Given the description of an element on the screen output the (x, y) to click on. 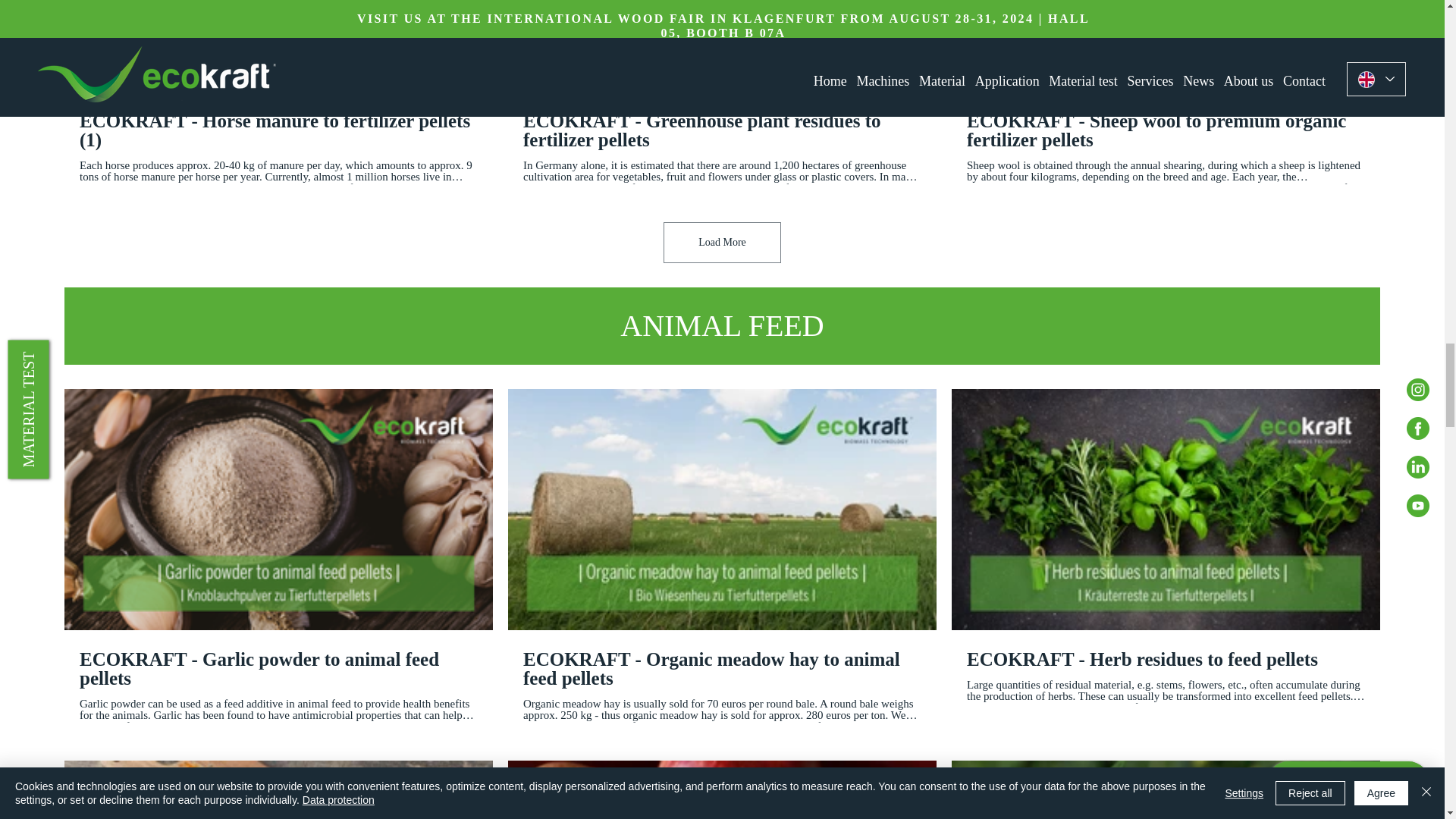
ECOKRAFT - Sheep wool to premium organic fertilizer pellets (1165, 130)
ECOKRAFT - Garlic powder to animal feed pellets (278, 669)
ECOKRAFT - Greenhouse plant residues to fertilizer pellets (721, 130)
ECOKRAFT - Organic meadow hay to animal feed pellets (721, 669)
